Given the description of an element on the screen output the (x, y) to click on. 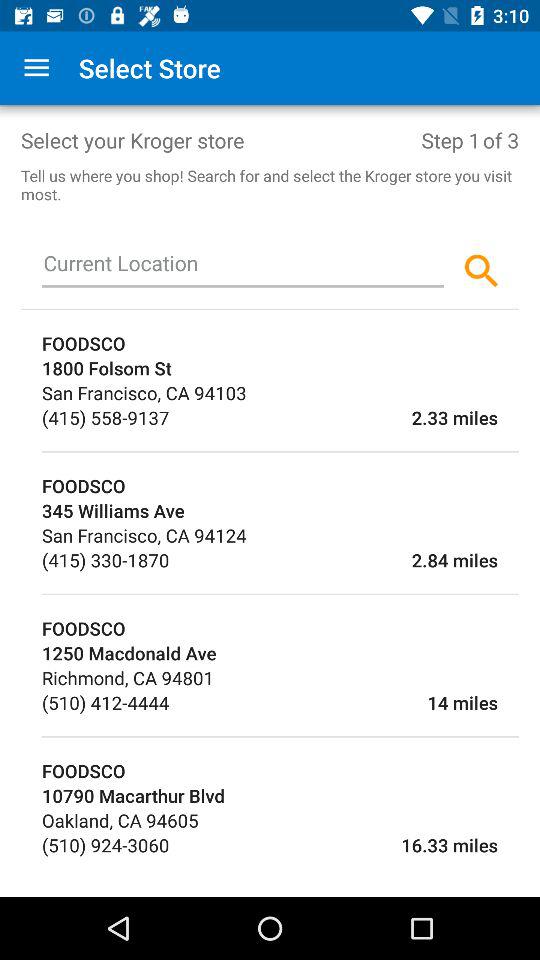
launch the 10790 macarthur blvd item (280, 795)
